Given the description of an element on the screen output the (x, y) to click on. 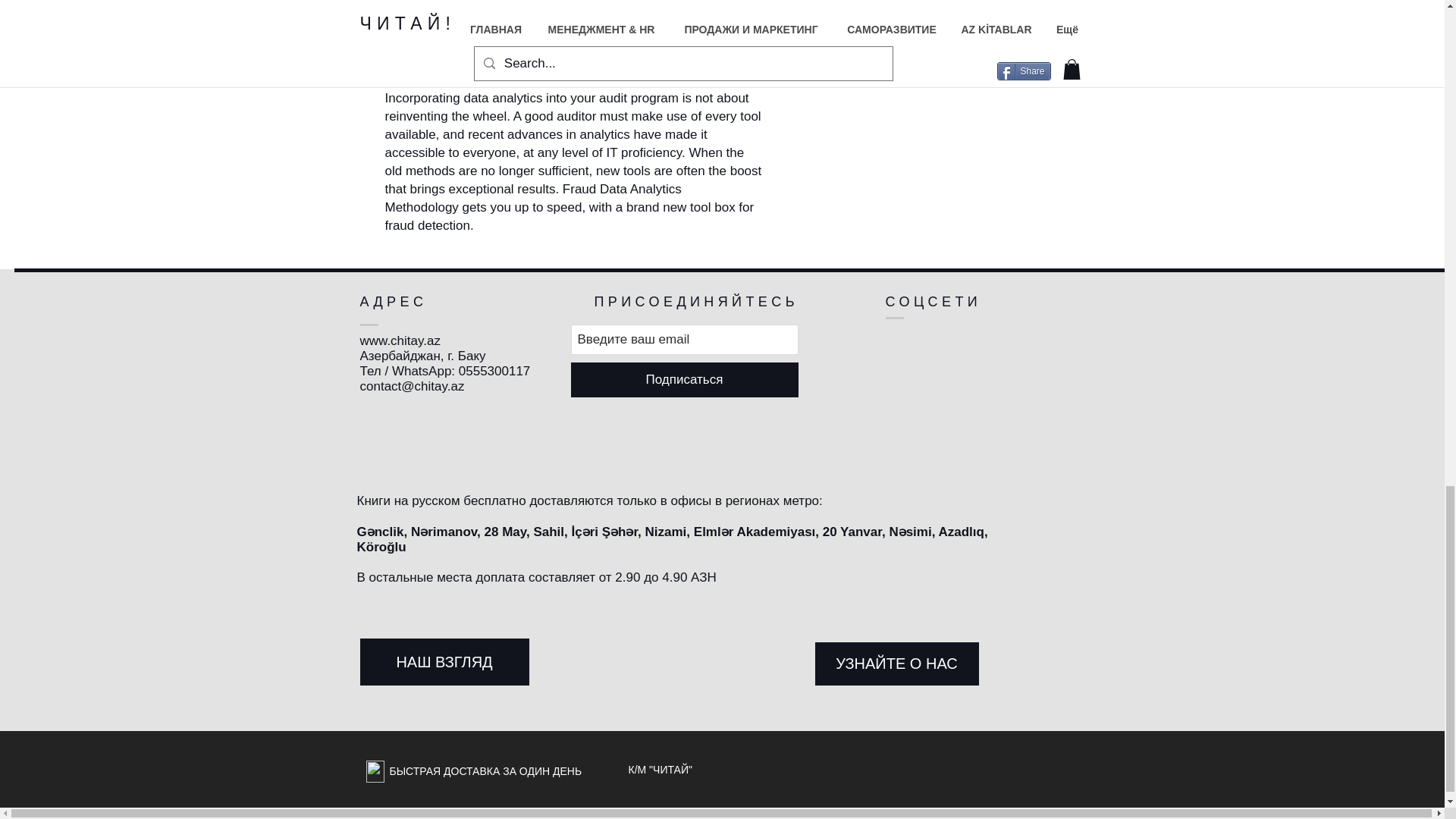
www.chitay.az (399, 340)
